Given the description of an element on the screen output the (x, y) to click on. 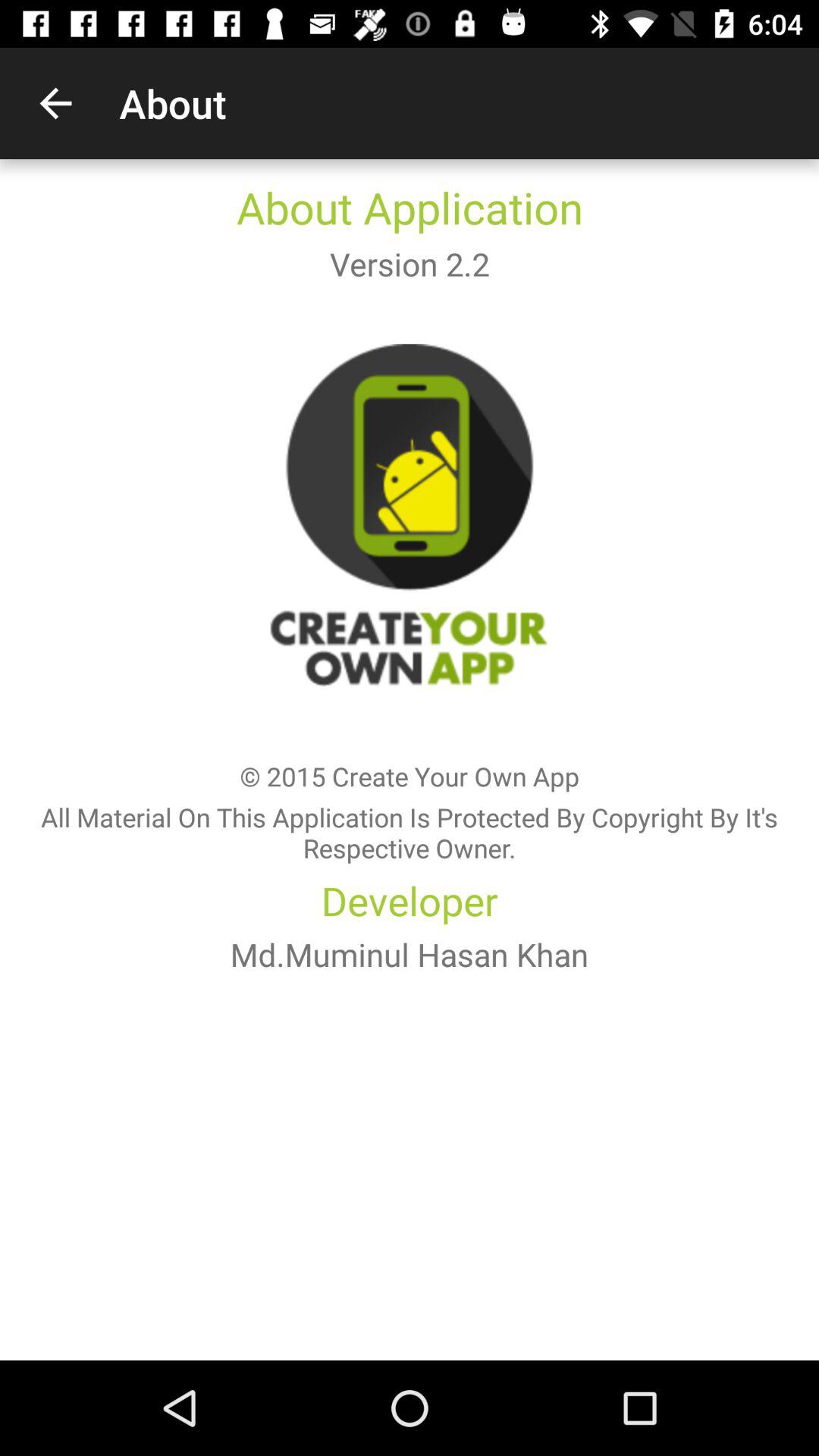
select icon above about application (55, 103)
